Given the description of an element on the screen output the (x, y) to click on. 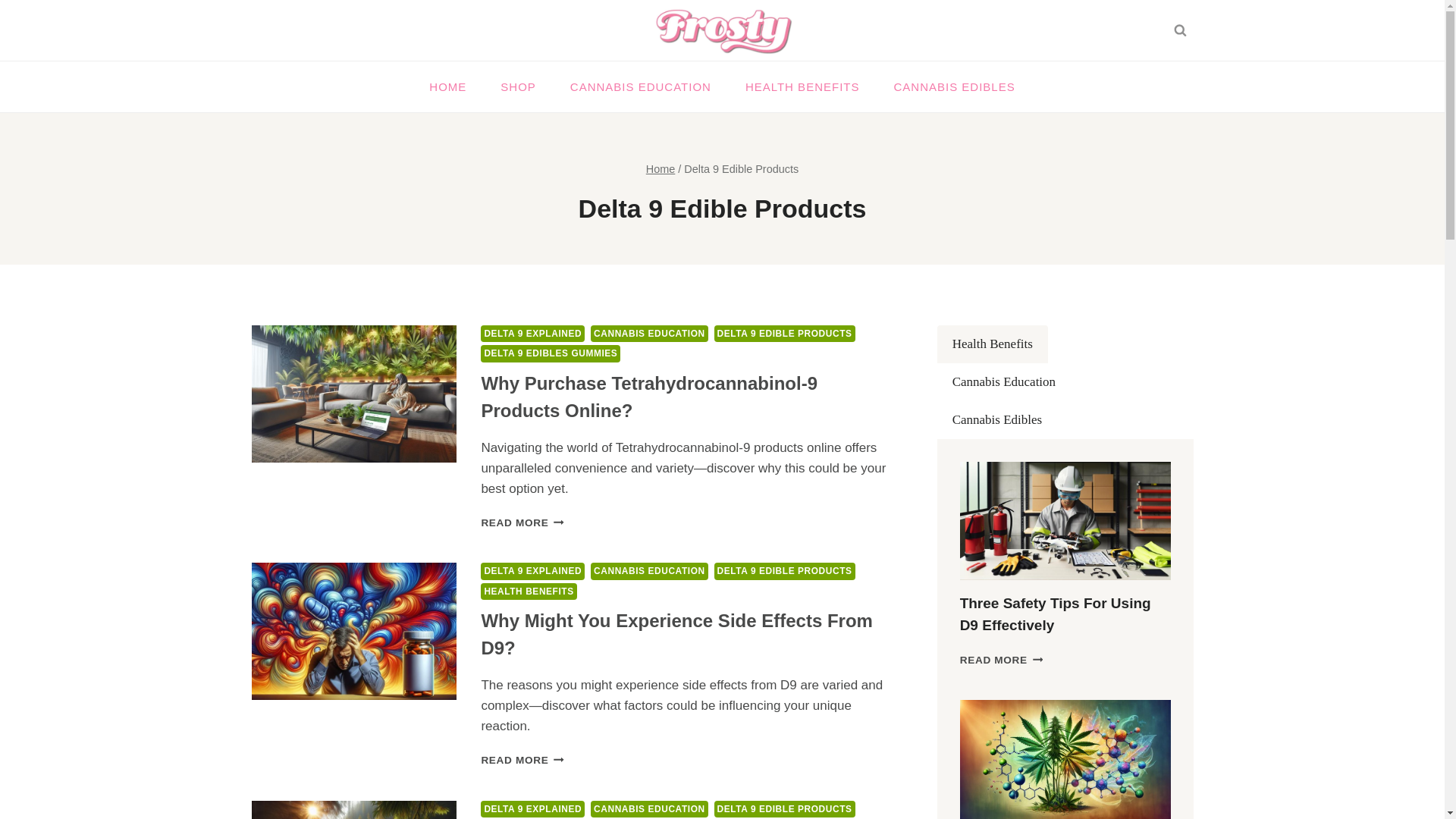
Home (660, 168)
DELTA 9 EDIBLE PRODUCTS (785, 808)
CANNABIS EDUCATION (649, 333)
Why Purchase Tetrahydrocannabinol-9 Products Online? (648, 396)
CANNABIS EDIBLES (954, 86)
HEALTH BENEFITS (528, 591)
DELTA 9 EDIBLES GUMMIES (550, 352)
HEALTH BENEFITS (802, 86)
DELTA 9 EDIBLE PRODUCTS (785, 570)
DELTA 9 EDIBLE PRODUCTS (785, 333)
CANNABIS EDUCATION (649, 808)
DELTA 9 EXPLAINED (532, 570)
CANNABIS EDUCATION (649, 570)
SHOP (518, 86)
